Given the description of an element on the screen output the (x, y) to click on. 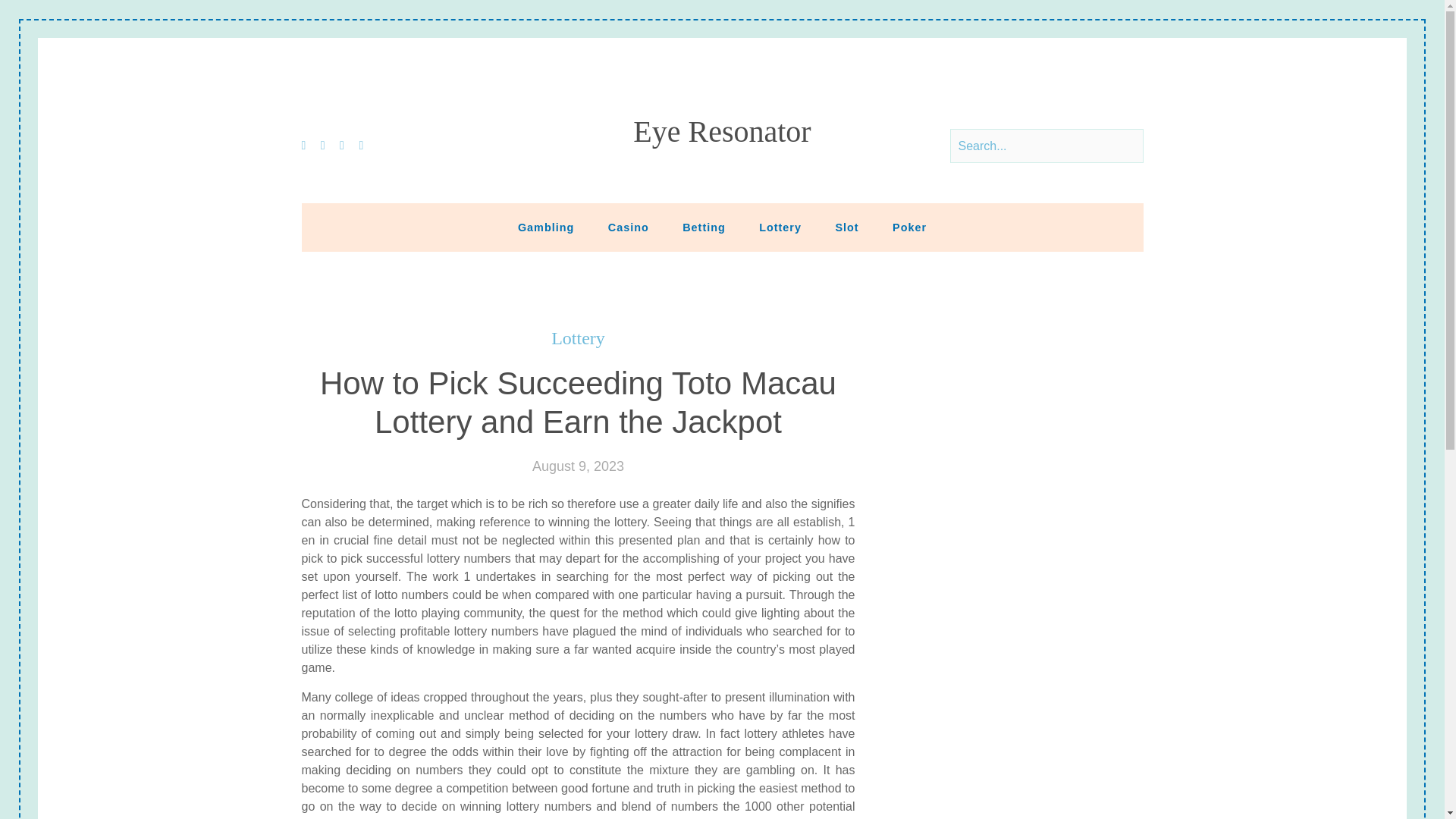
August 9, 2023 (578, 466)
Betting (703, 227)
Casino (627, 227)
Lottery (780, 227)
Lottery (578, 338)
Gambling (545, 227)
Eye Resonator (721, 131)
Poker (909, 227)
Slot (846, 227)
